Given the description of an element on the screen output the (x, y) to click on. 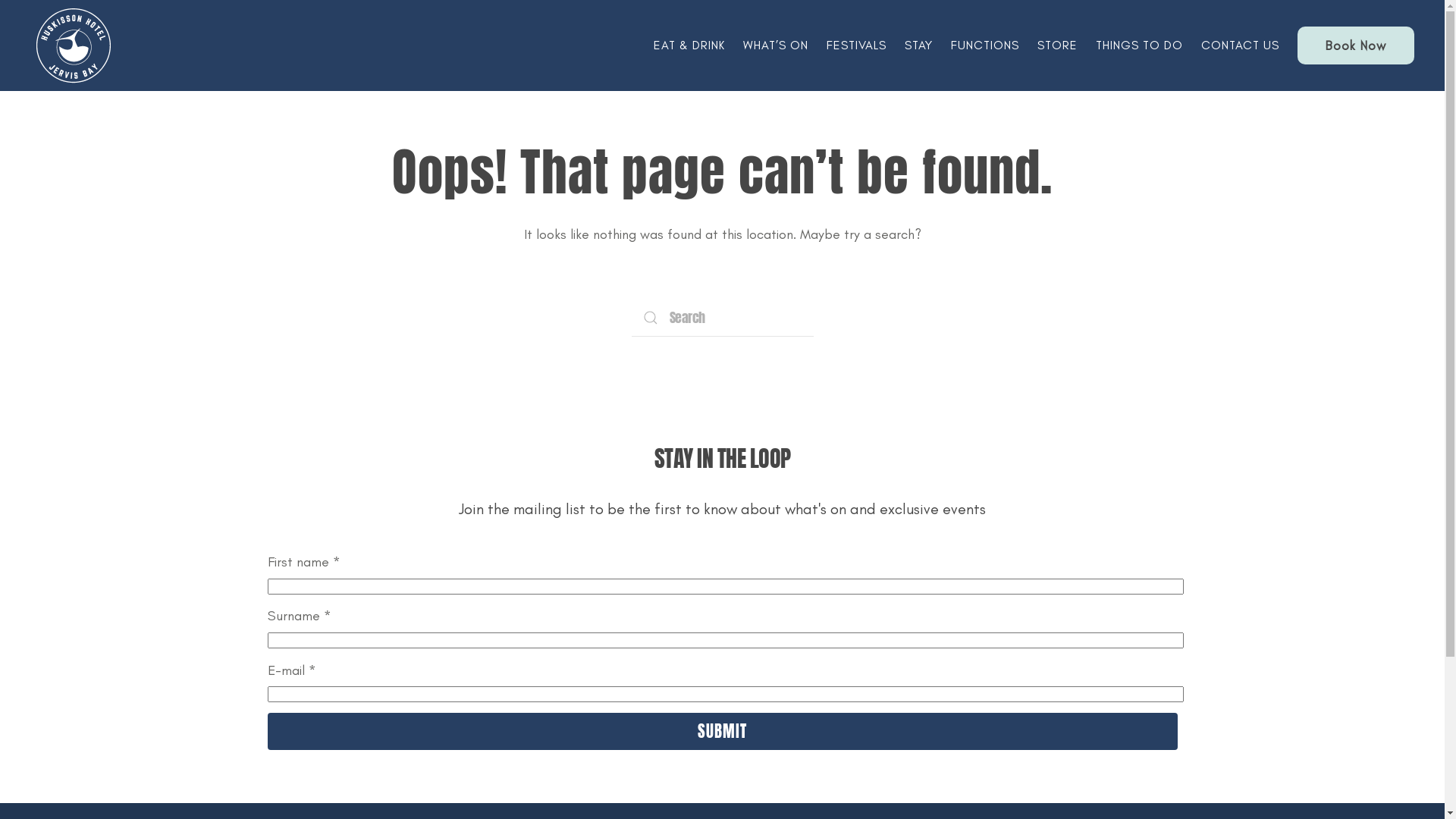
SUBMIT Element type: text (721, 730)
Book Now Element type: text (1355, 45)
STAY Element type: text (918, 45)
THINGS TO DO Element type: text (1139, 45)
STORE Element type: text (1057, 45)
CONTACT US Element type: text (1239, 45)
FUNCTIONS Element type: text (984, 45)
EAT & DRINK Element type: text (689, 45)
FESTIVALS Element type: text (856, 45)
